Given the description of an element on the screen output the (x, y) to click on. 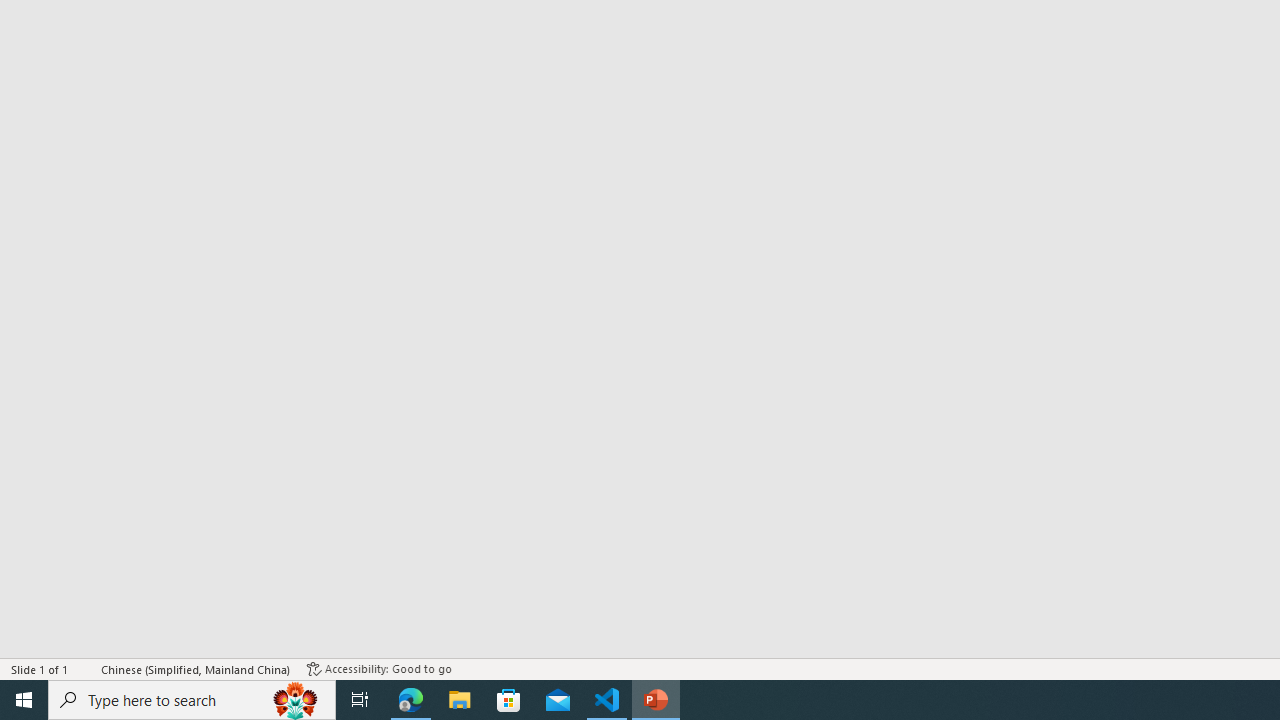
Accessibility Checker Accessibility: Good to go (379, 668)
Spell Check  (86, 668)
